Given the description of an element on the screen output the (x, y) to click on. 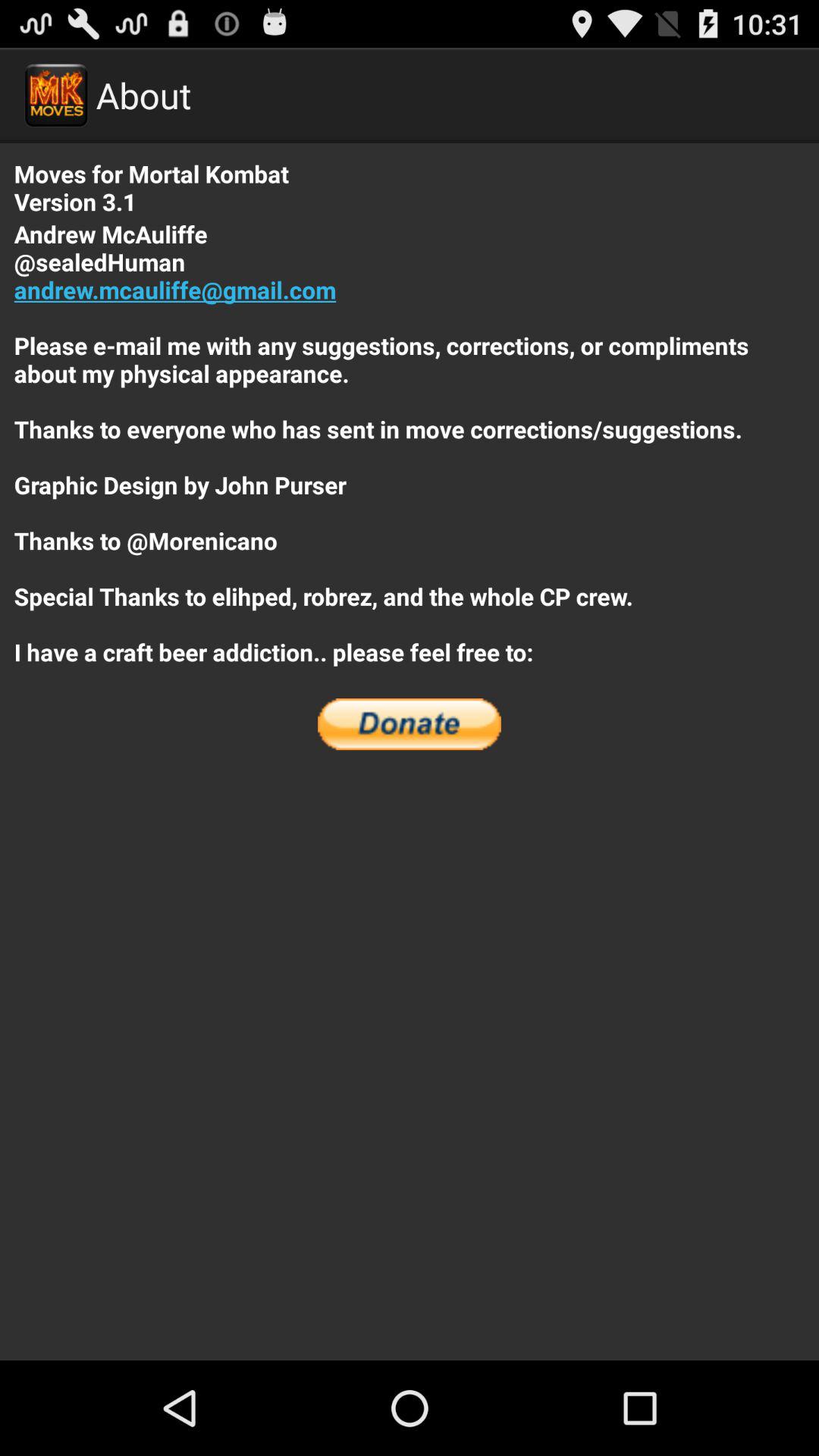
launch andrew mcauliffe sealedhuman item (409, 442)
